Given the description of an element on the screen output the (x, y) to click on. 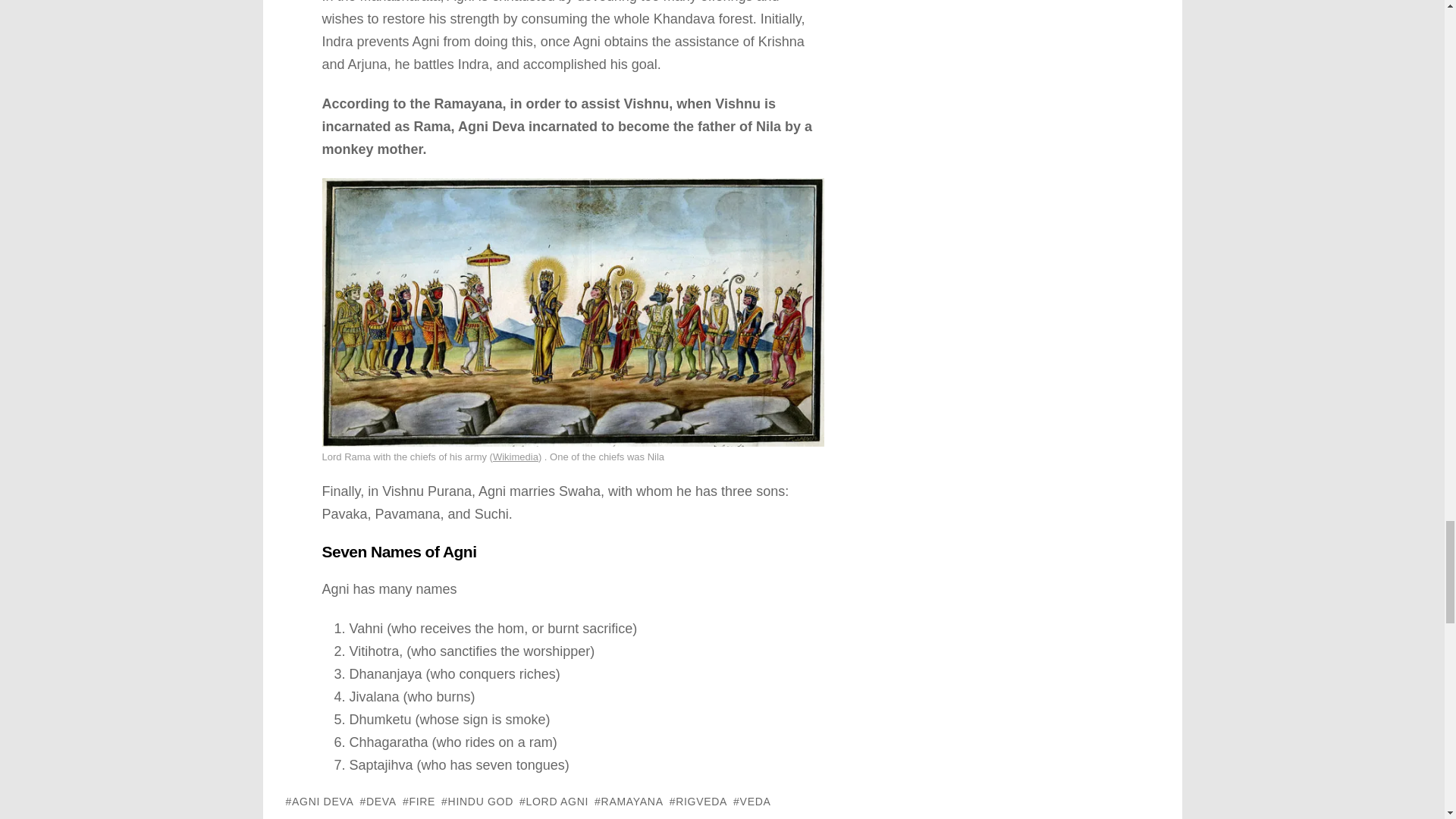
RAMAYANA (628, 801)
AGNI DEVA (319, 801)
DEVA (377, 801)
Wikimedia (515, 456)
HINDU GOD (477, 801)
FIRE (419, 801)
VEDA (751, 801)
RIGVEDA (697, 801)
LORD AGNI (553, 801)
